Given the description of an element on the screen output the (x, y) to click on. 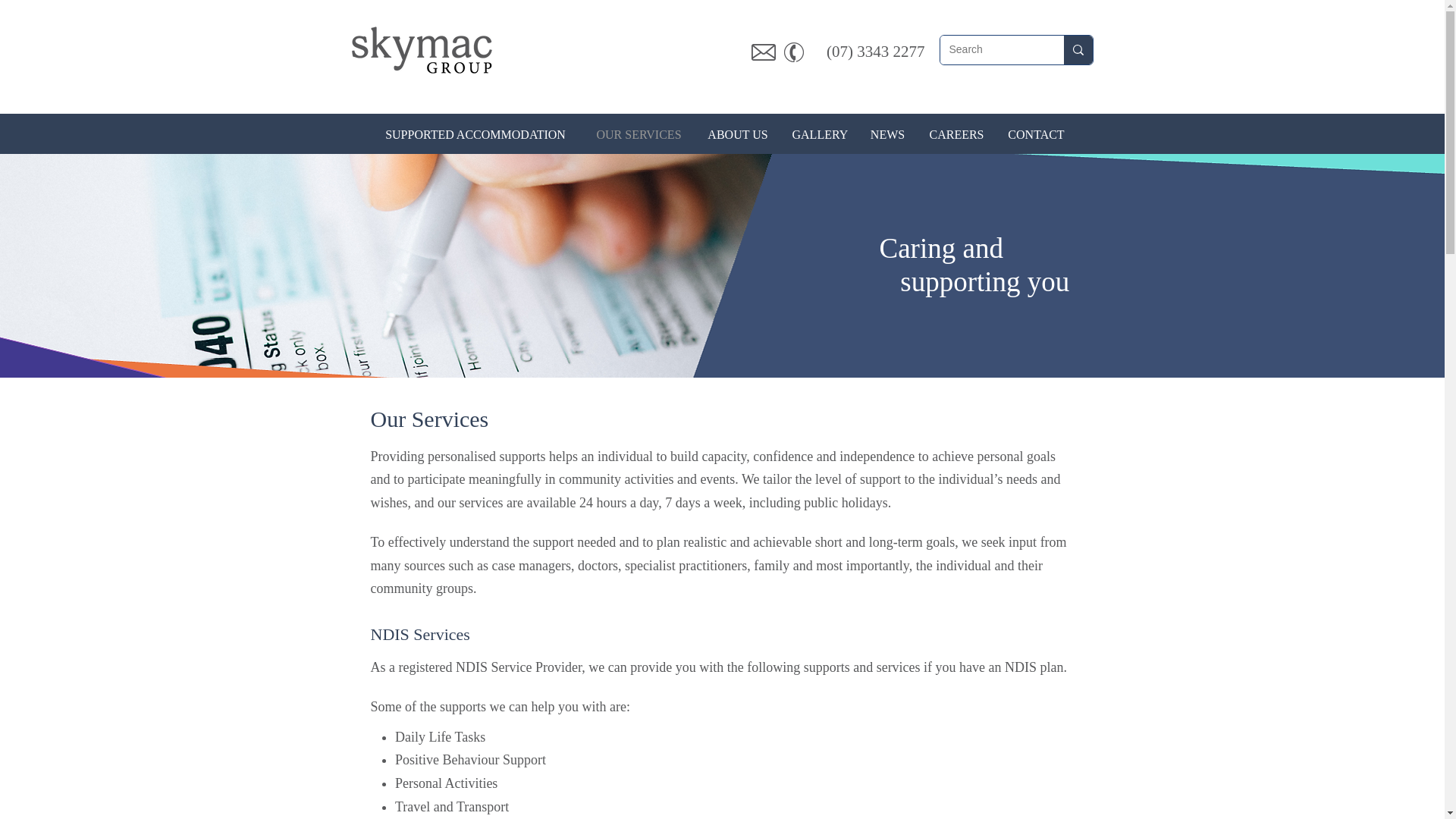
GALLERY (819, 134)
NEWS (888, 134)
Phone icon (793, 52)
CAREERS (956, 134)
Click to email Skymac (762, 52)
ABOUT US (737, 134)
SUPPORTED ACCOMMODATION (475, 134)
OUR SERVICES (638, 134)
Back to home page (422, 49)
CONTACT (1036, 134)
